Given the description of an element on the screen output the (x, y) to click on. 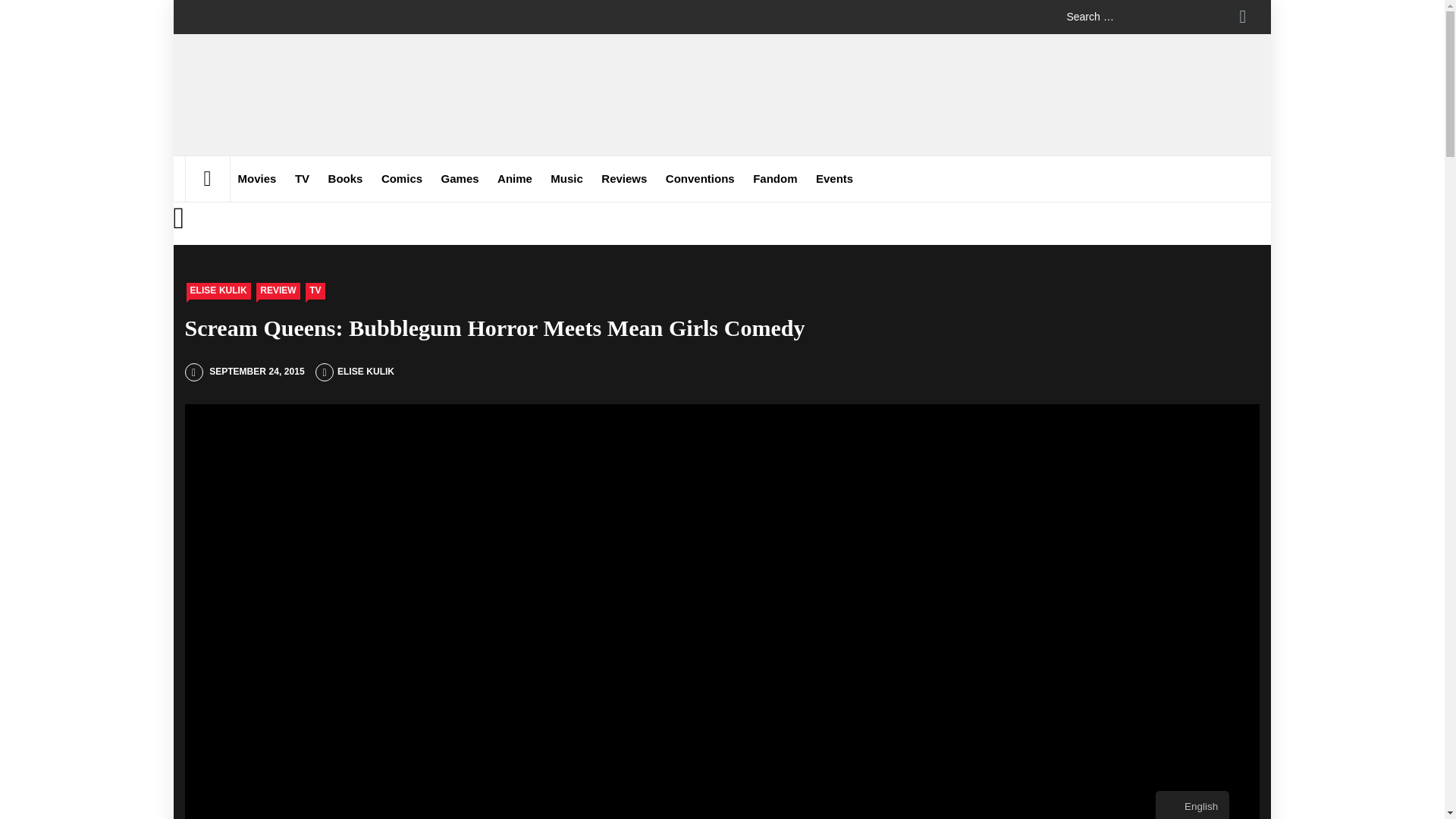
Search (1242, 17)
TV (314, 290)
Music (567, 178)
Search (1242, 17)
ELISE KULIK (354, 371)
Fandom (775, 178)
REVIEW (277, 290)
Comics (401, 178)
Anime (514, 178)
Reviews (623, 178)
